Given the description of an element on the screen output the (x, y) to click on. 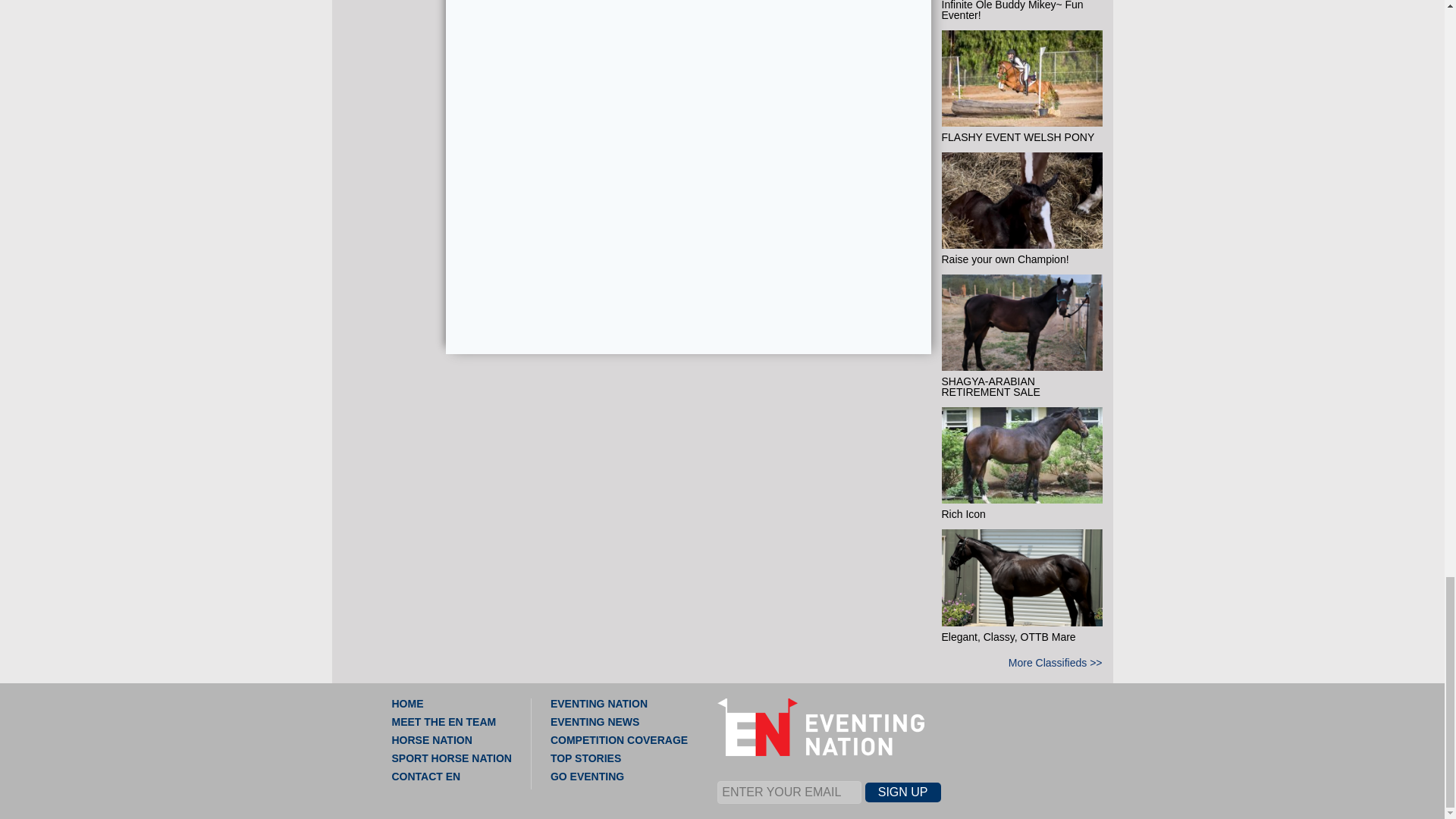
SIGN UP (902, 792)
